Given the description of an element on the screen output the (x, y) to click on. 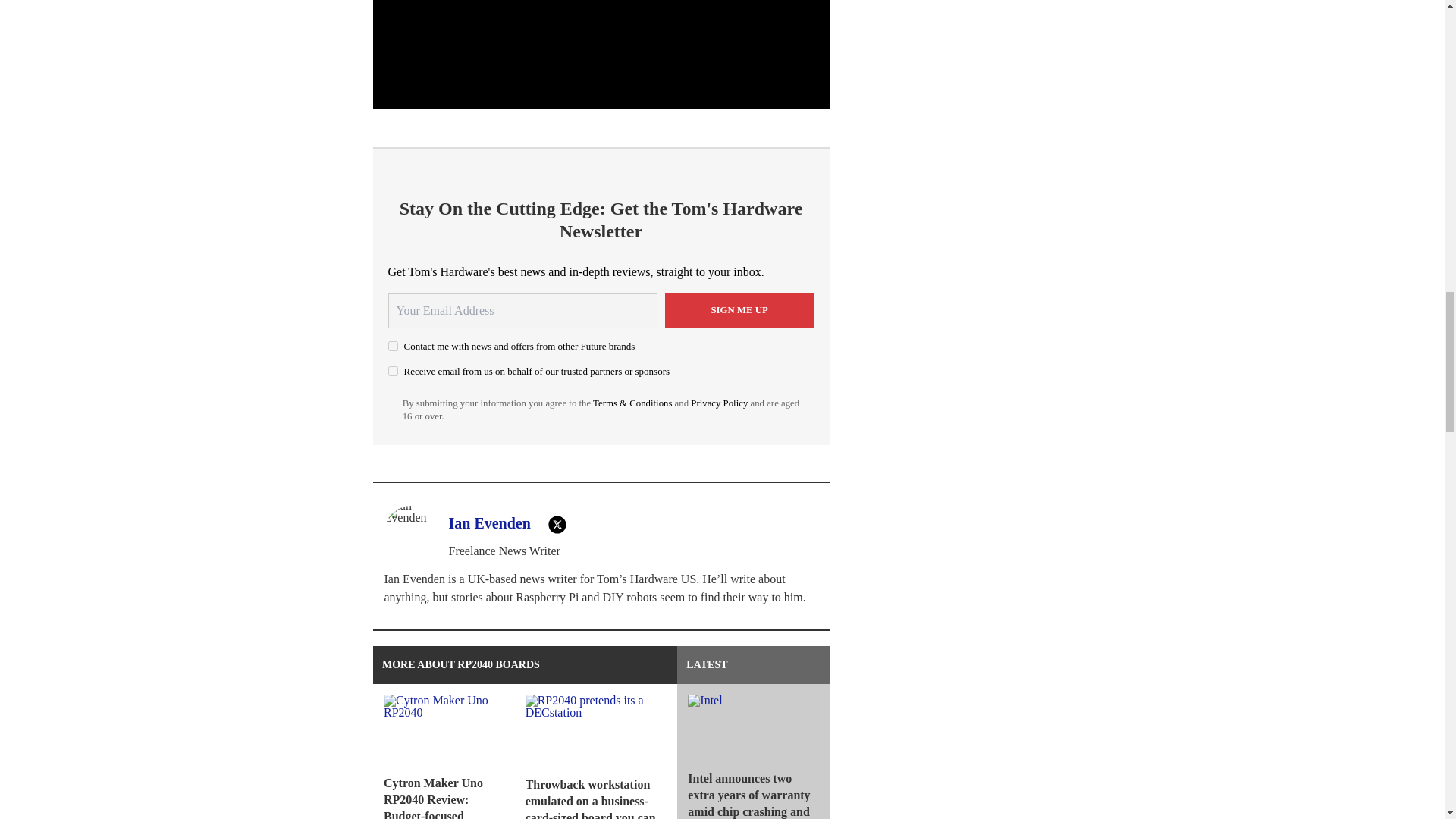
Sign me up (739, 310)
on (392, 346)
on (392, 370)
